Given the description of an element on the screen output the (x, y) to click on. 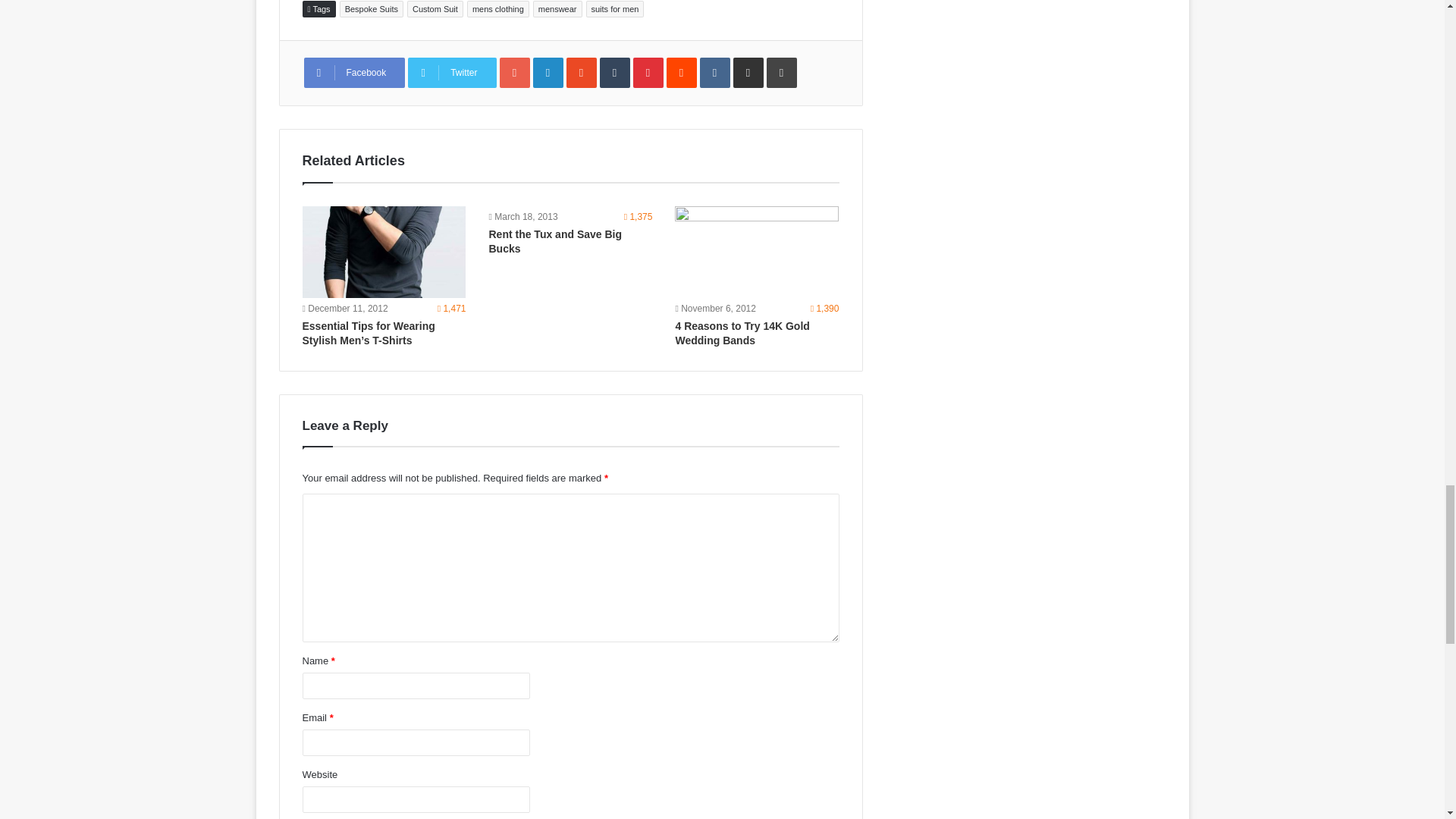
Bespoke Suits (371, 8)
Twitter (451, 72)
suits for men (614, 8)
Custom Suit (435, 8)
menswear (557, 8)
Facebook (353, 72)
mens clothing (498, 8)
